Given the description of an element on the screen output the (x, y) to click on. 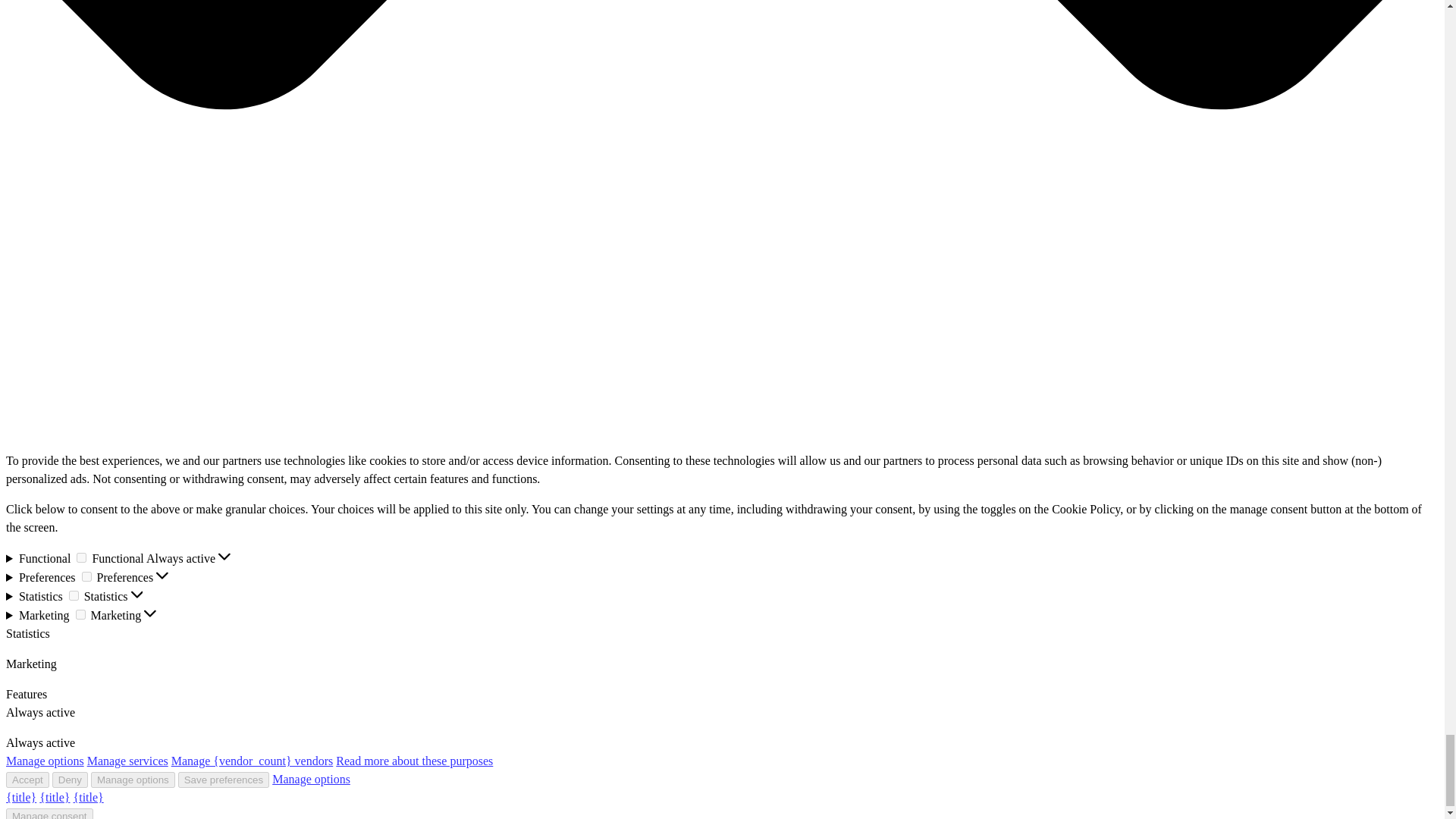
1 (80, 614)
1 (81, 557)
1 (86, 576)
1 (73, 595)
